Given the description of an element on the screen output the (x, y) to click on. 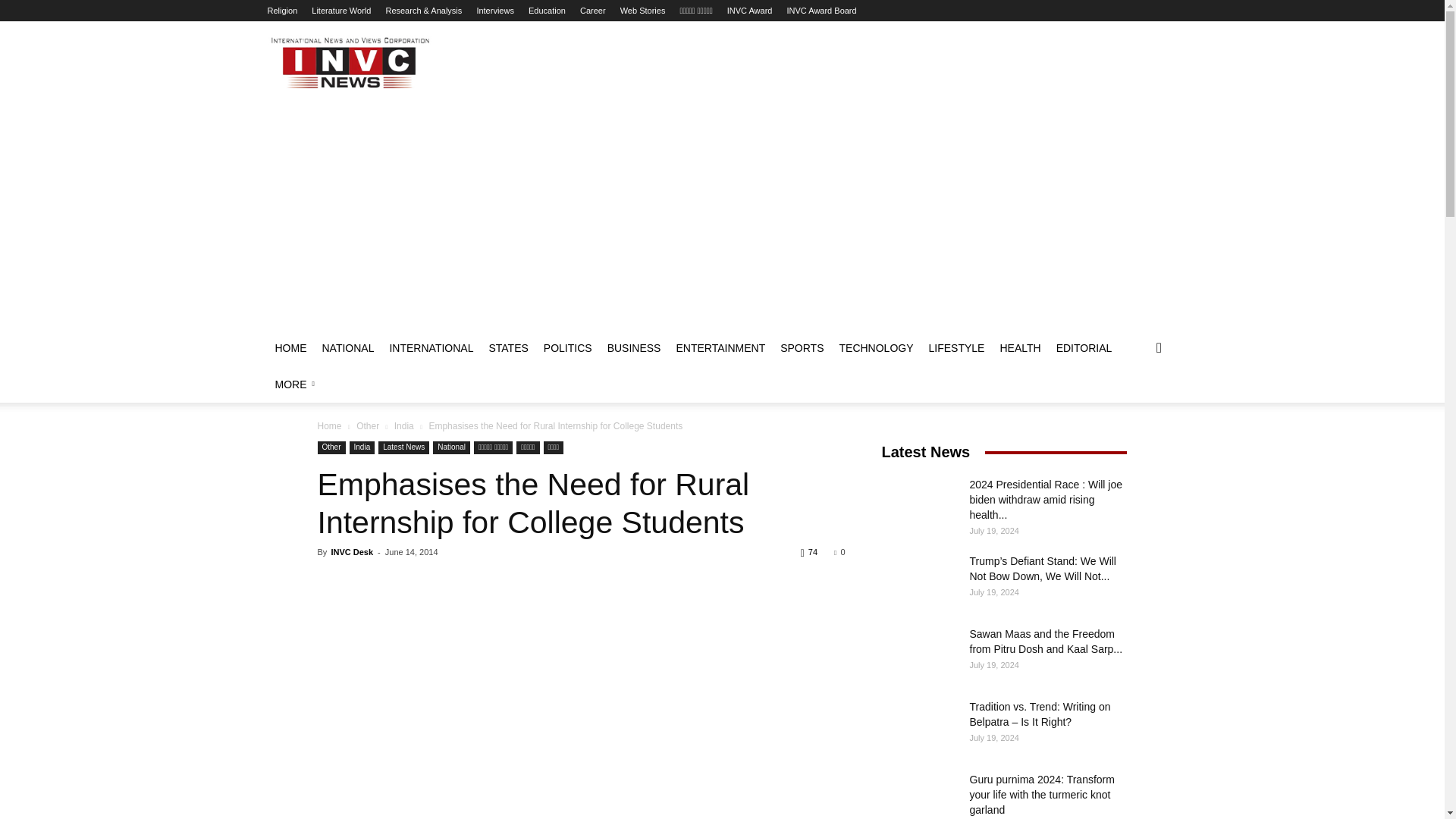
Literature World (341, 10)
Career (592, 10)
Religion (281, 10)
Web Stories (642, 10)
Education (547, 10)
INVC (348, 62)
Interviews (494, 10)
View all posts in Other (367, 425)
INVC Award Board (822, 10)
View all posts in India (403, 425)
INVC Award (749, 10)
